Given the description of an element on the screen output the (x, y) to click on. 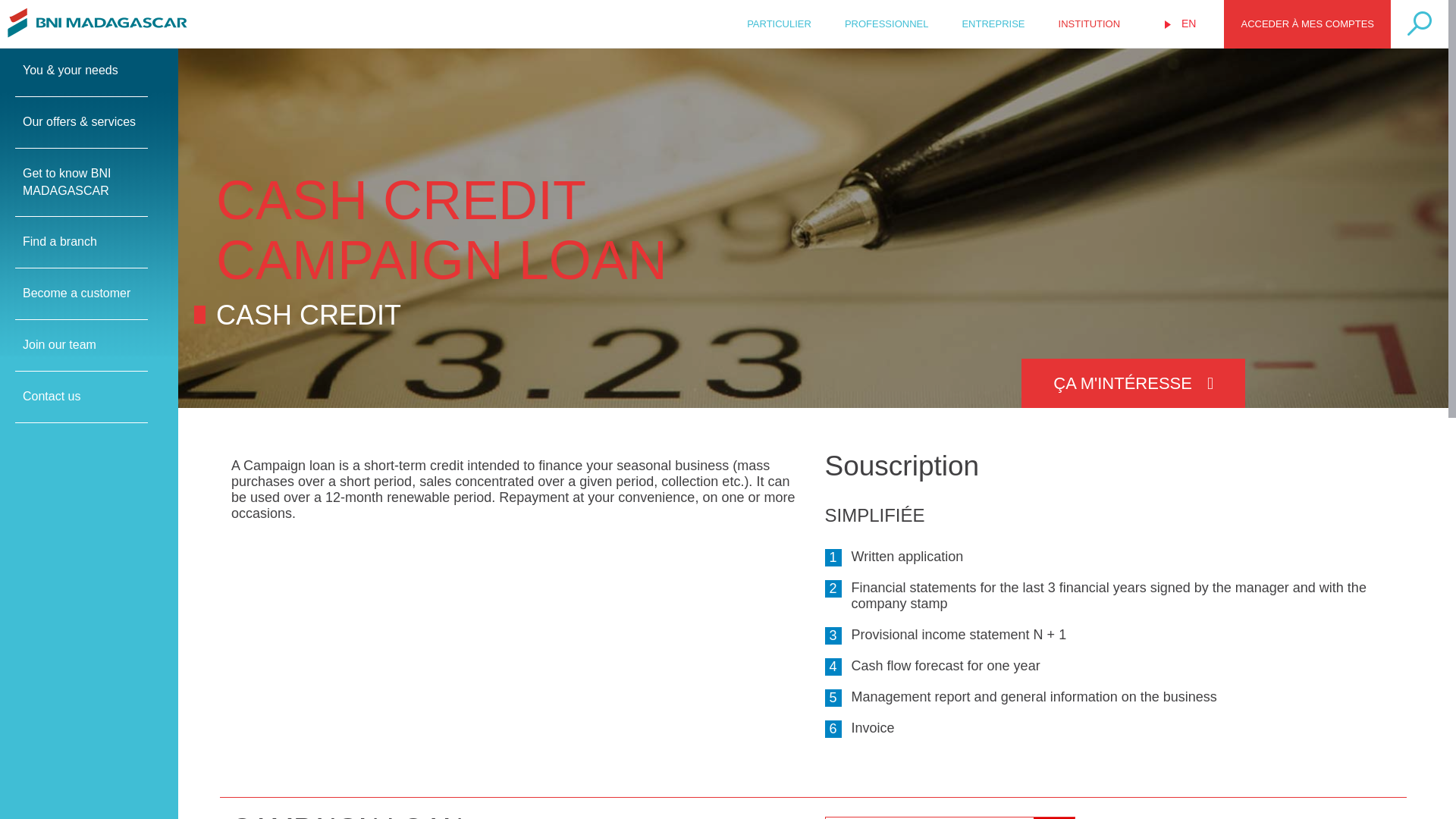
Join our team (81, 345)
INSTITUTION (1089, 23)
PROFESSIONNEL (886, 23)
Get to know BNI MADAGASCAR (81, 182)
Contact us (81, 397)
Become a customer (81, 294)
PARTICULIER (778, 23)
ENTREPRISE (992, 23)
Find a branch (81, 242)
